Given the description of an element on the screen output the (x, y) to click on. 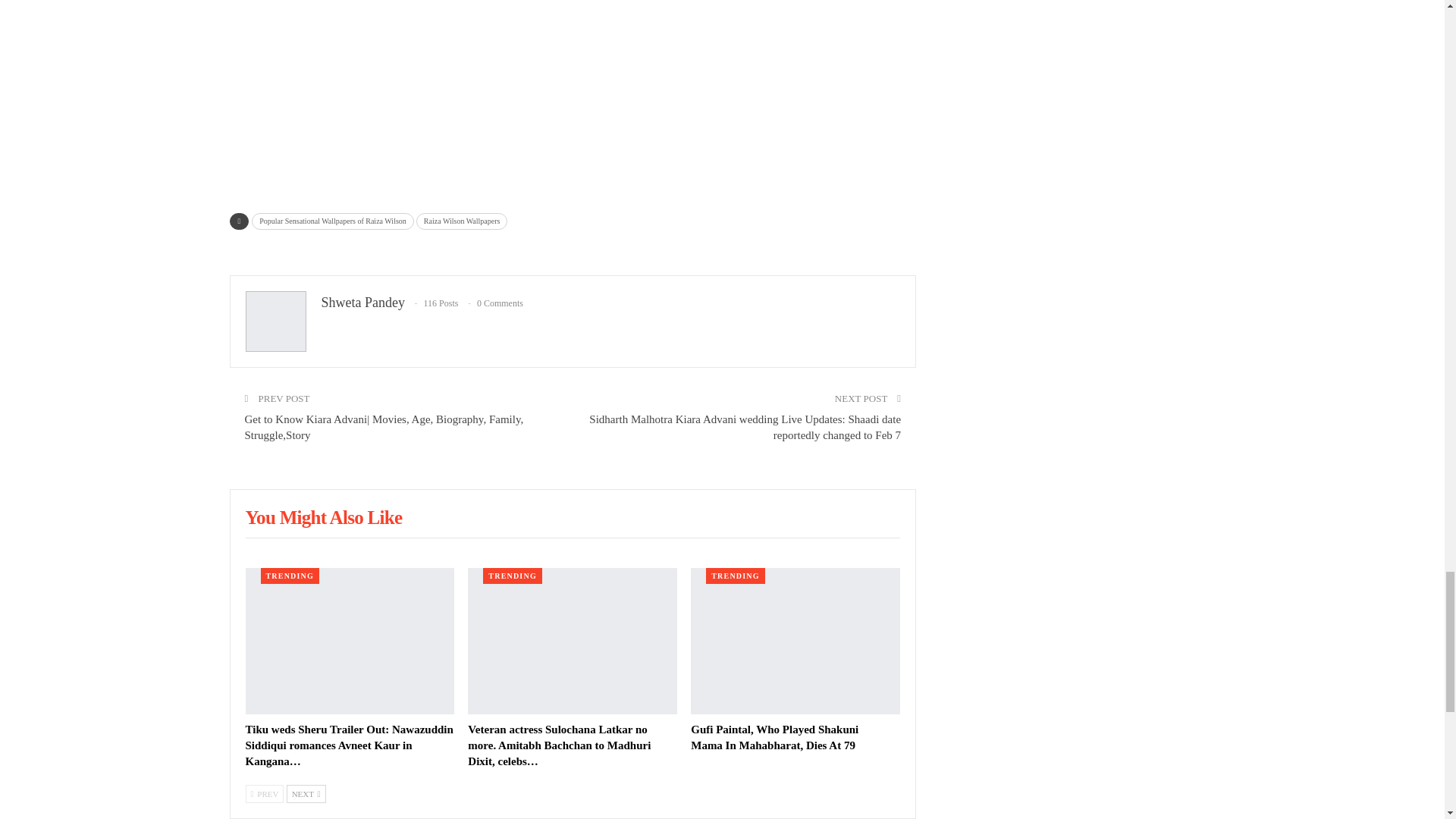
Raiza Wilson Wallpapers (462, 221)
Shweta Pandey (362, 302)
TRENDING (512, 575)
TRENDING (735, 575)
